Given the description of an element on the screen output the (x, y) to click on. 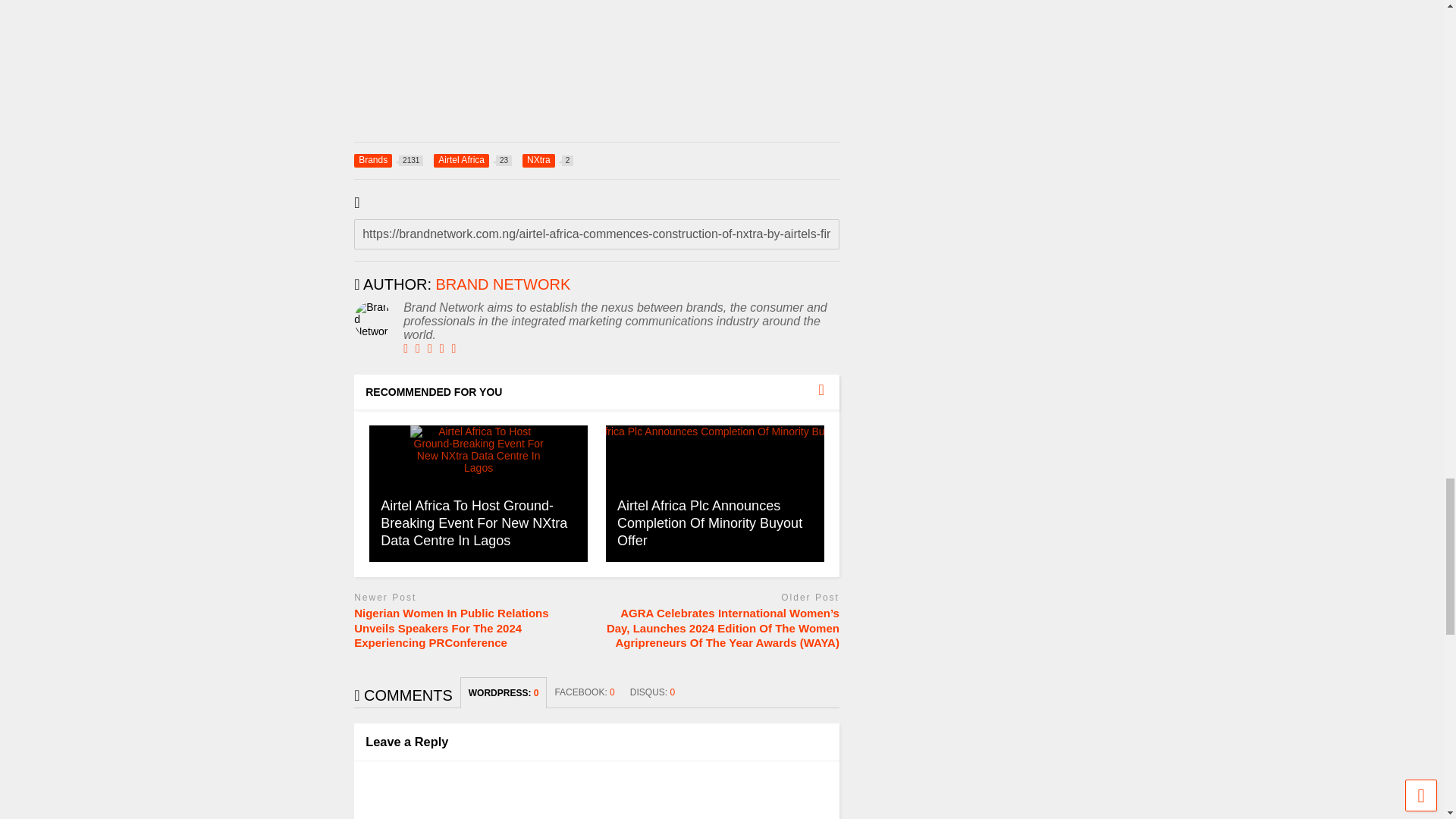
Click to read (714, 493)
Click to read (478, 493)
author profile (388, 160)
Comment Form (502, 284)
